Given the description of an element on the screen output the (x, y) to click on. 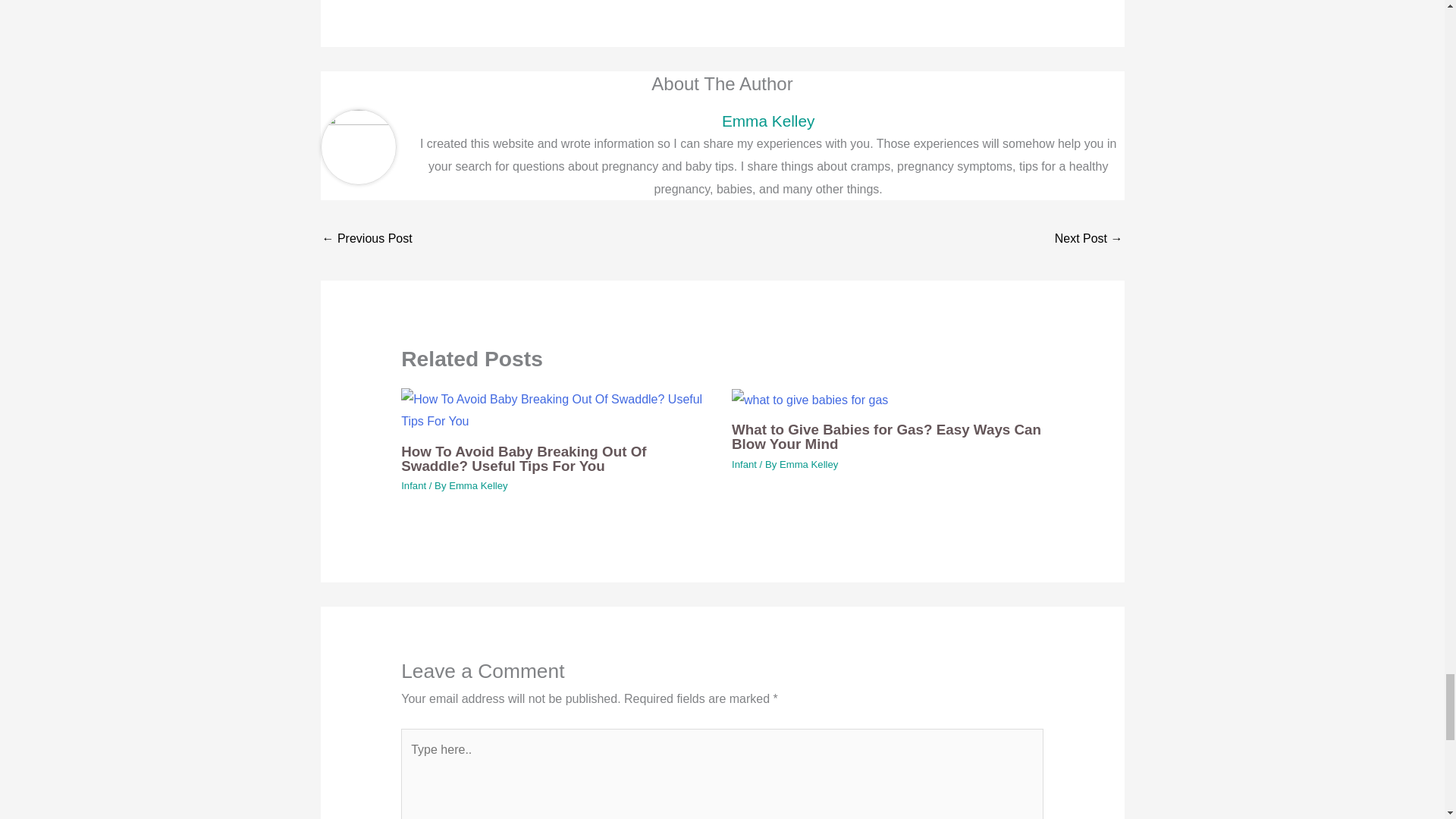
View all posts by Emma Kelley (478, 485)
Emma Kelley (478, 485)
What to Give Babies for Gas? Easy Ways Can Blow Your Mind (886, 436)
Infant (413, 485)
Emma Kelley (768, 120)
Emma Kelley (808, 464)
View all posts by Emma Kelley (808, 464)
Infant (744, 464)
